Given the description of an element on the screen output the (x, y) to click on. 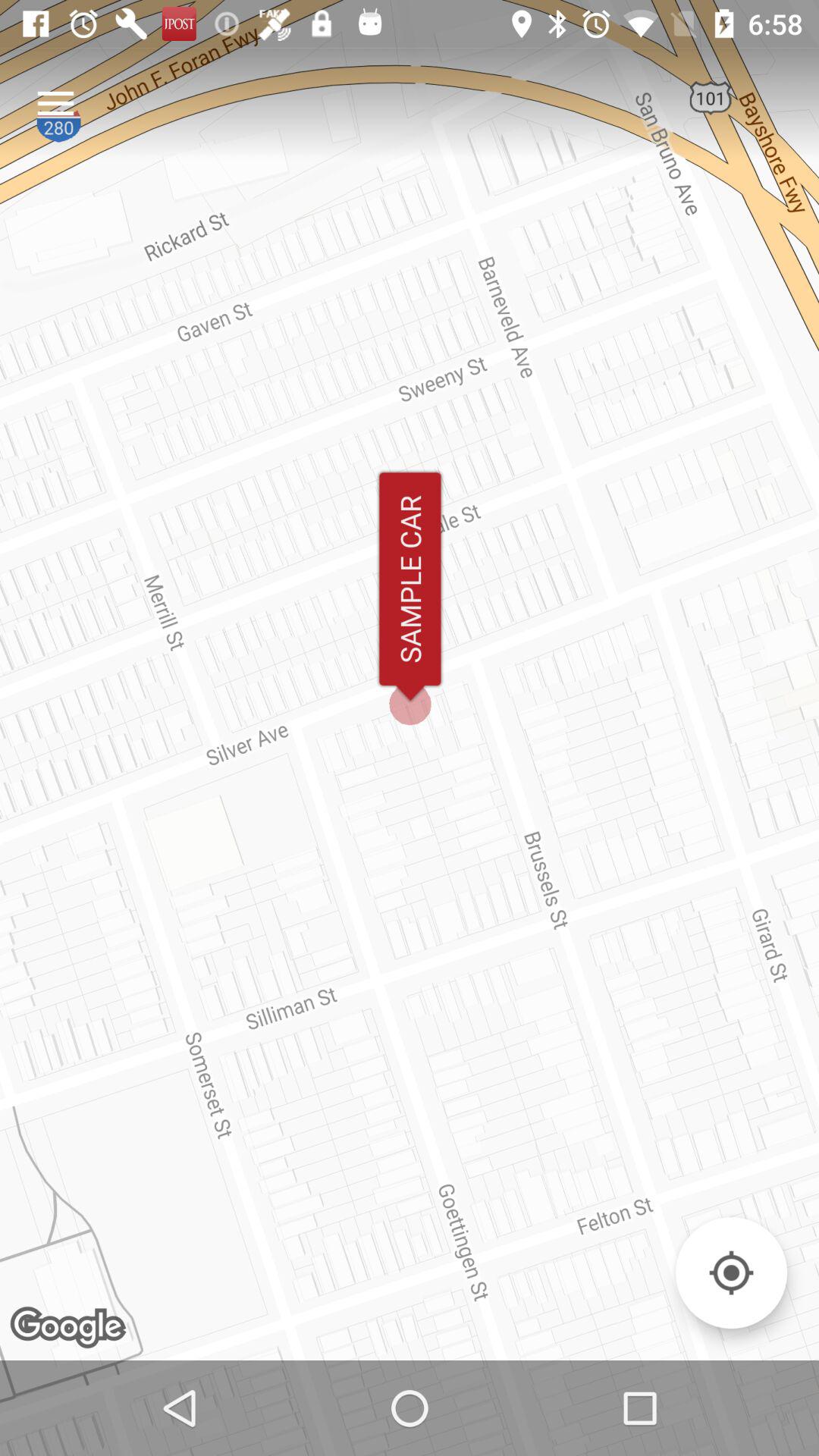
location option (731, 1272)
